Given the description of an element on the screen output the (x, y) to click on. 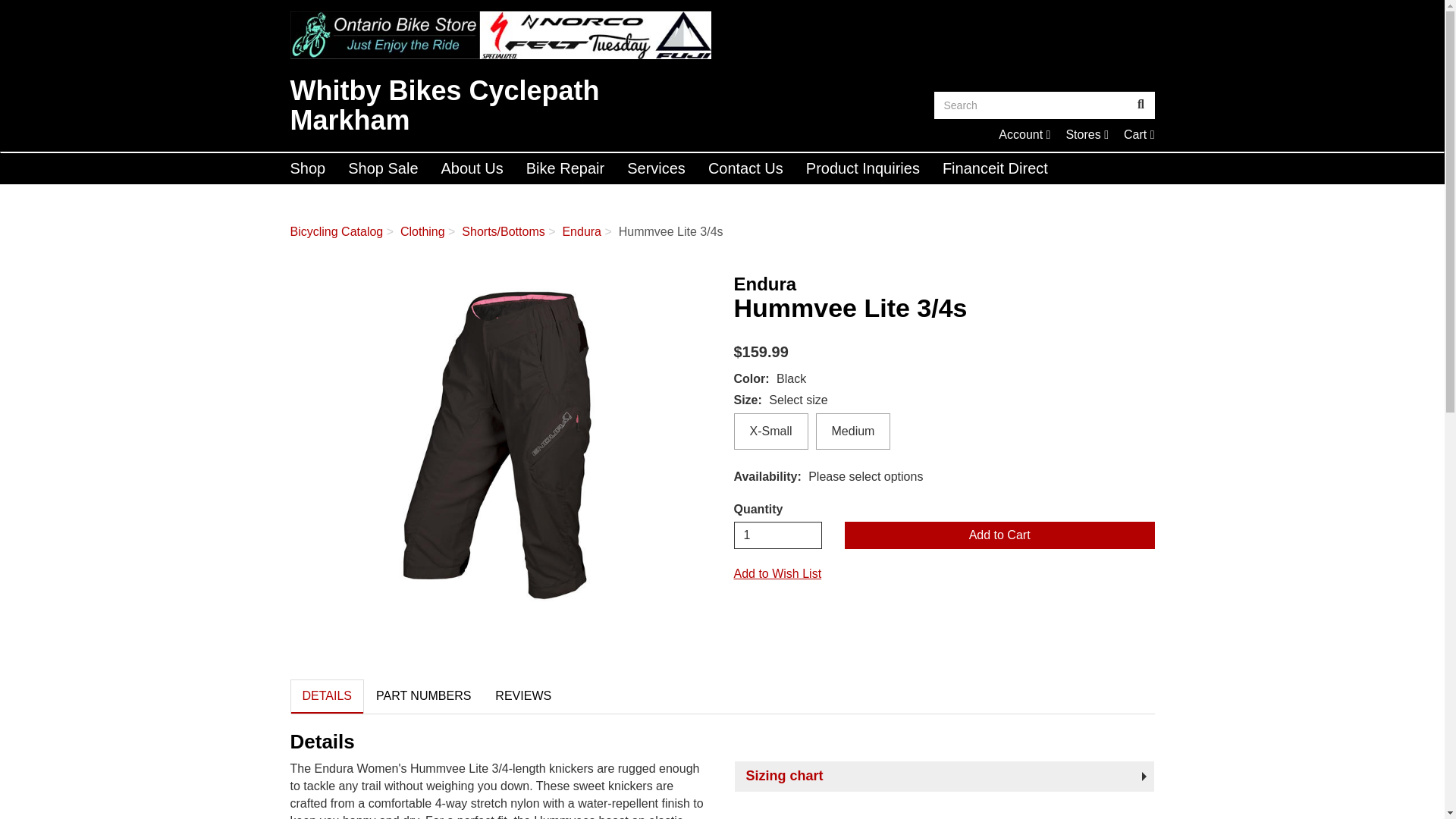
Shop (308, 168)
Search (1140, 104)
Search (1139, 133)
Whitby Bikes Cyclepath Markham Home Page (1023, 133)
1 (1031, 104)
Stores (499, 34)
Cart (1086, 133)
Account (777, 534)
